Given the description of an element on the screen output the (x, y) to click on. 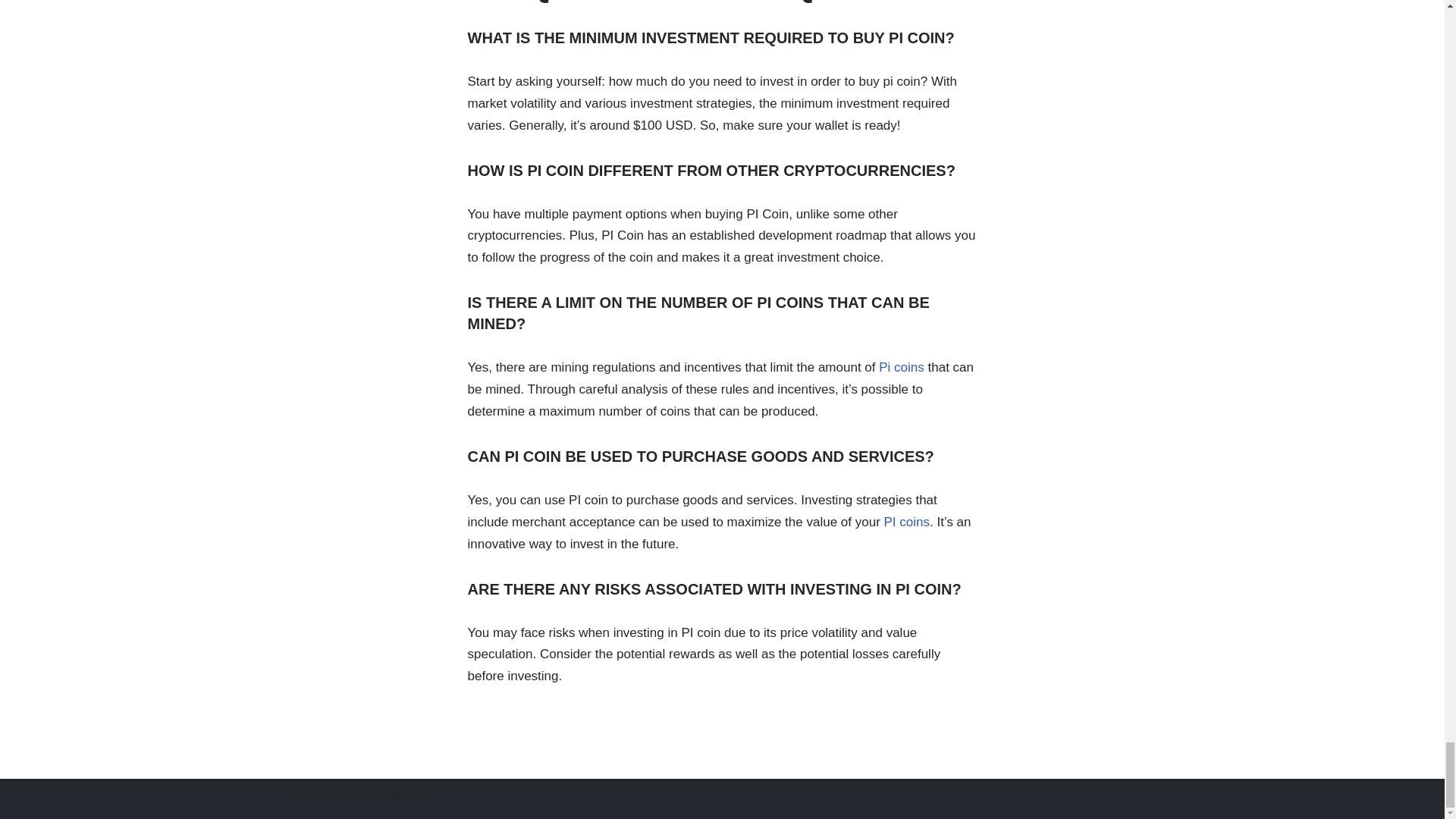
WordPress (417, 798)
Pi coins (901, 367)
Neve (303, 798)
PI coins (906, 522)
PI coins (906, 522)
Pi coins (901, 367)
